Given the description of an element on the screen output the (x, y) to click on. 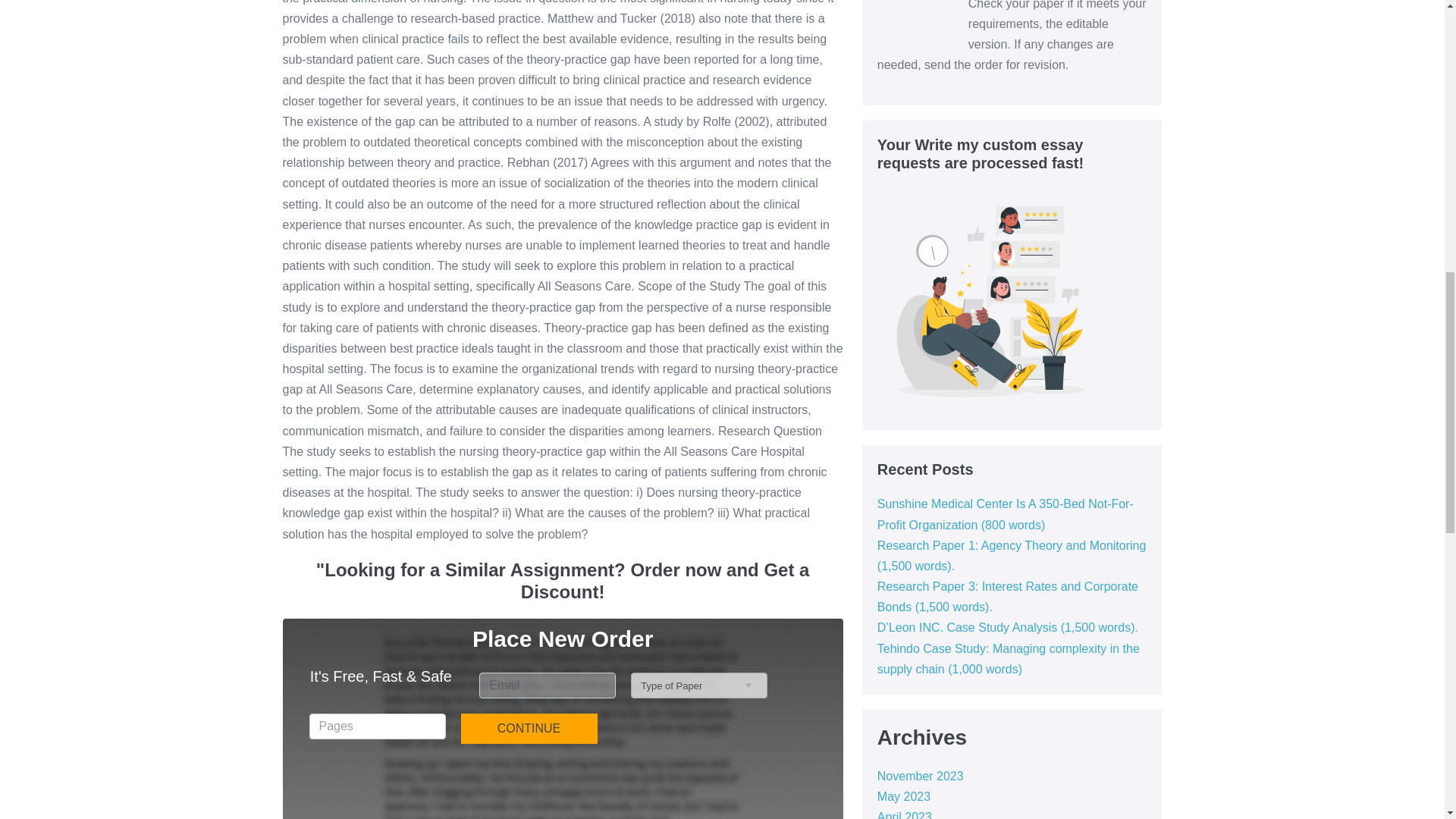
April 2023 (904, 814)
November 2023 (920, 775)
CONTINUE (528, 727)
May 2023 (903, 796)
